Given the description of an element on the screen output the (x, y) to click on. 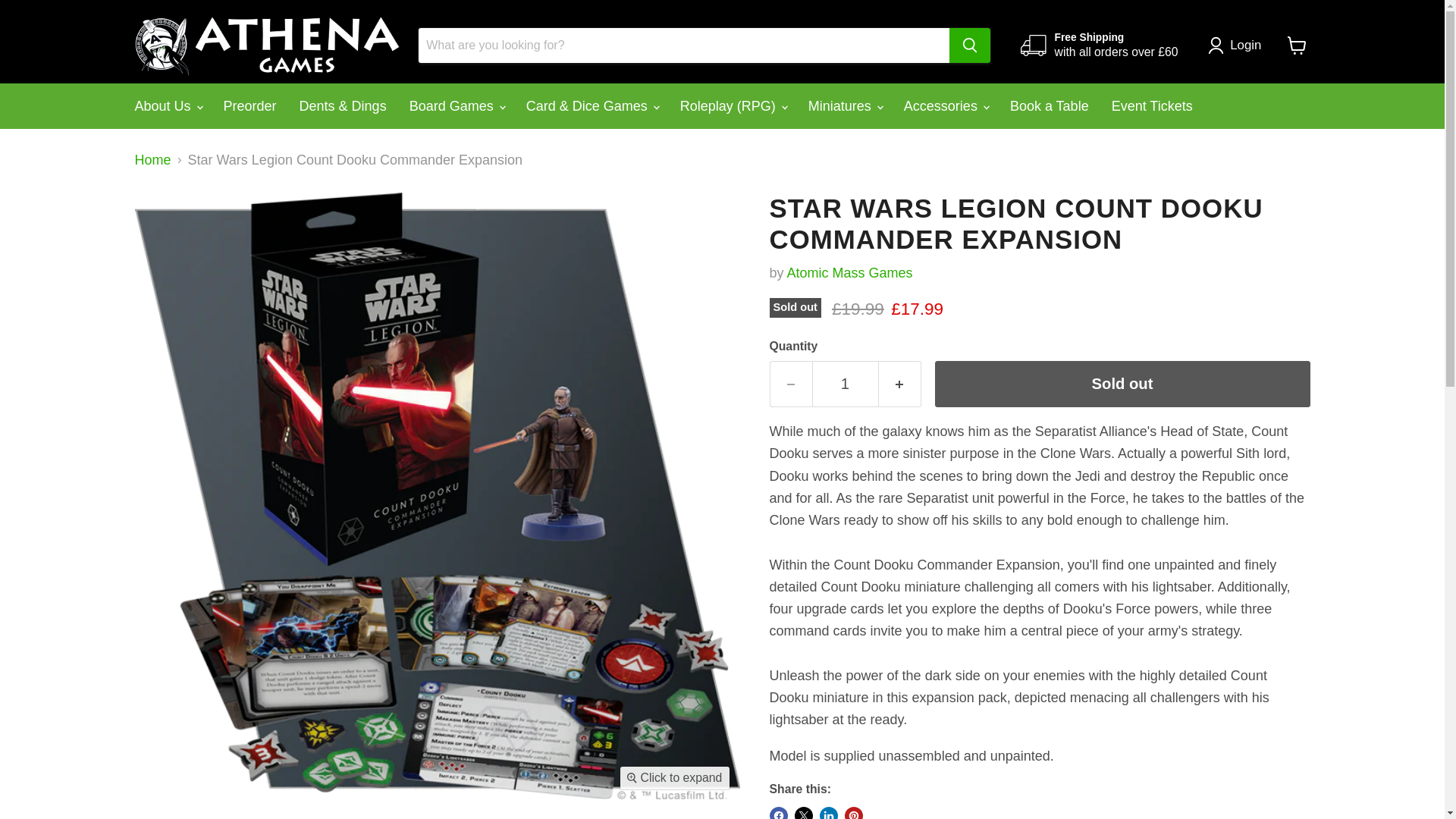
View cart (1296, 45)
Login (1238, 45)
Preorder (250, 105)
1 (843, 384)
Atomic Mass Games (849, 272)
